Given the description of an element on the screen output the (x, y) to click on. 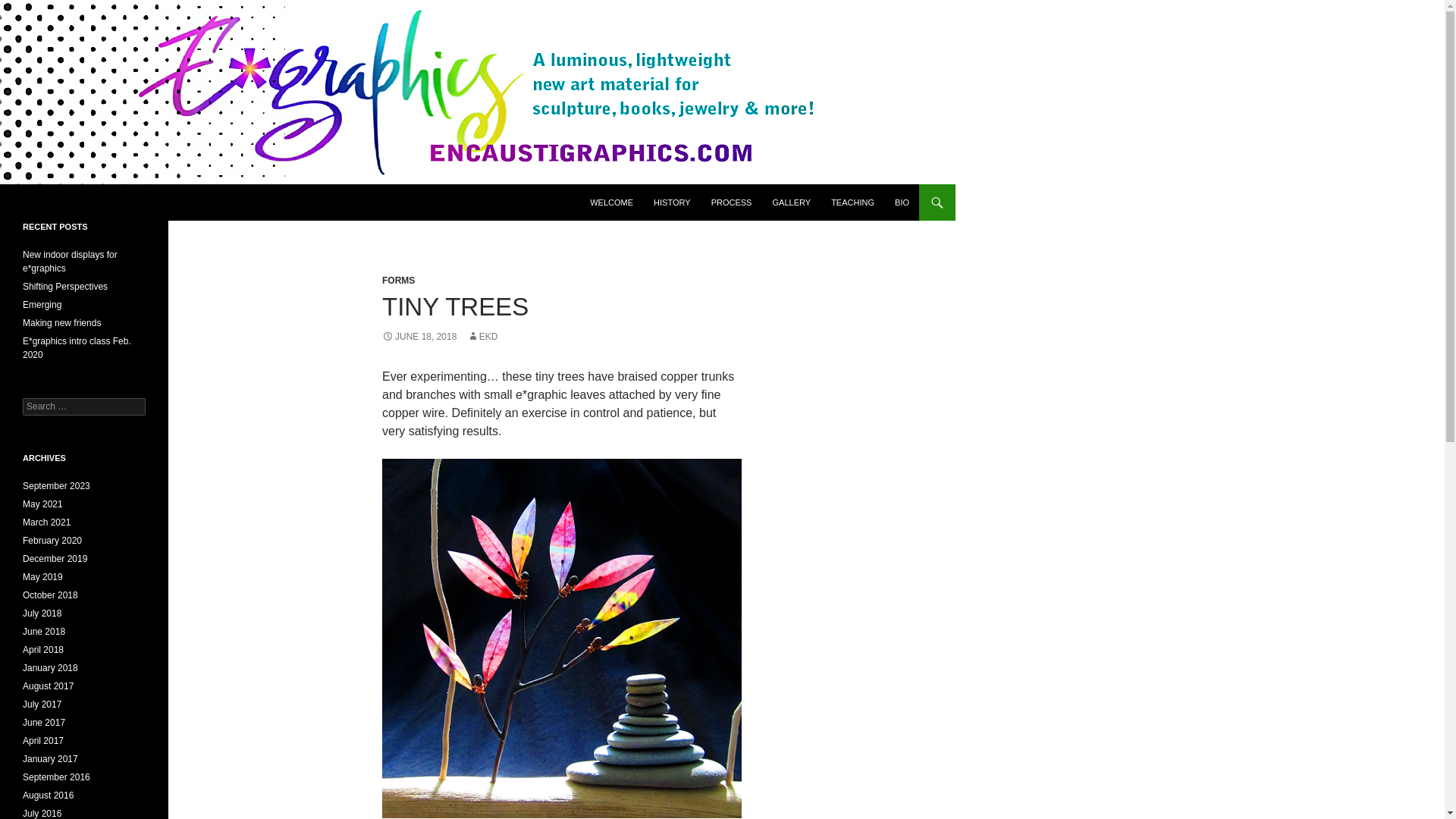
March 2021 (46, 521)
Making new friends (61, 322)
December 2019 (55, 558)
Search (30, 8)
May 2019 (42, 576)
February 2020 (52, 540)
July 2018 (42, 613)
August 2017 (48, 685)
PROCESS (731, 202)
Emerging (42, 304)
EKD (482, 336)
WELCOME (611, 202)
September 2023 (56, 485)
FORMS (397, 280)
